Given the description of an element on the screen output the (x, y) to click on. 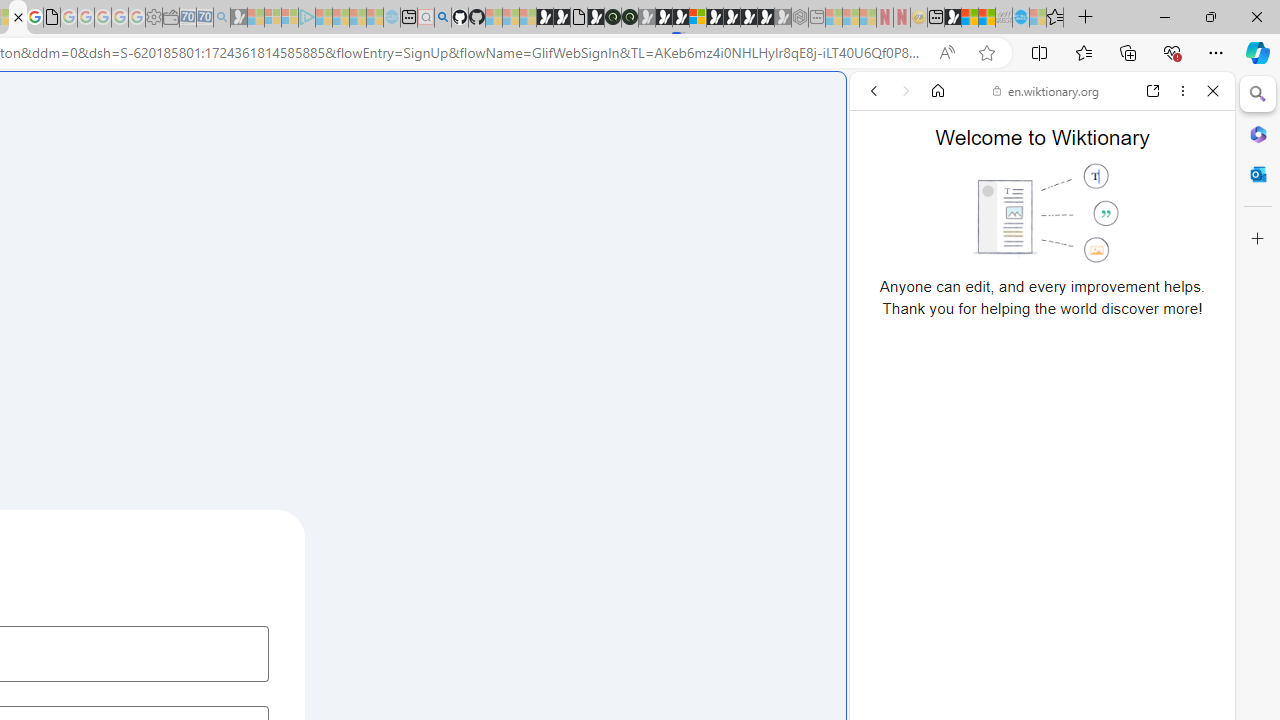
Play Zoo Boom in your browser | Games from Microsoft Start (561, 17)
Services - Maintenance | Sky Blue Bikes - Sky Blue Bikes (1020, 17)
